Given the description of an element on the screen output the (x, y) to click on. 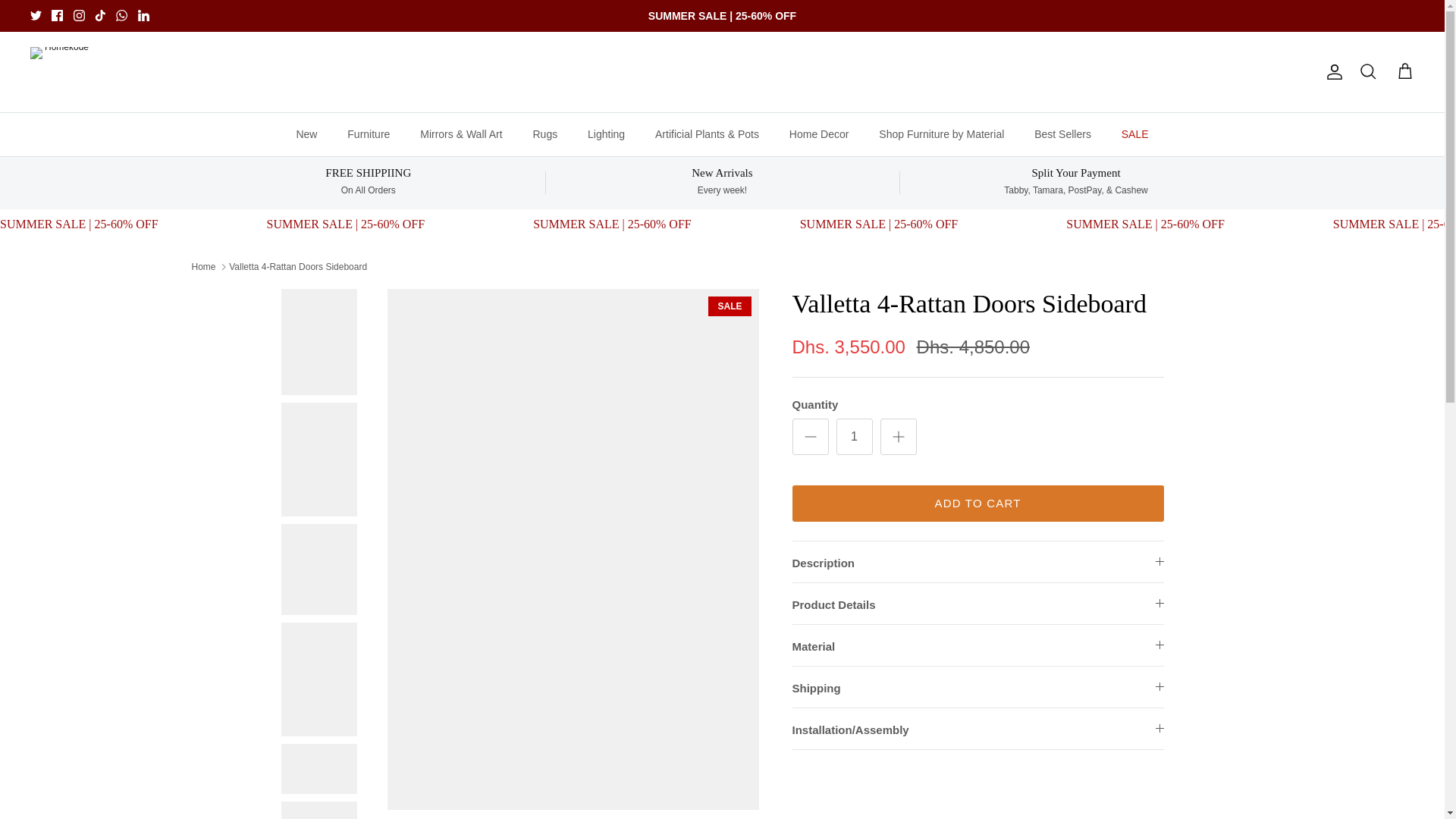
Plus (897, 436)
Minus (809, 436)
Twitter (36, 15)
Twitter (36, 15)
New (306, 134)
Account (1331, 72)
Search (1367, 71)
Furniture (368, 134)
Instagram (79, 15)
Cart (1404, 71)
Facebook (56, 15)
1 (853, 436)
Facebook (56, 15)
Instagram (79, 15)
Homekode (60, 71)
